Given the description of an element on the screen output the (x, y) to click on. 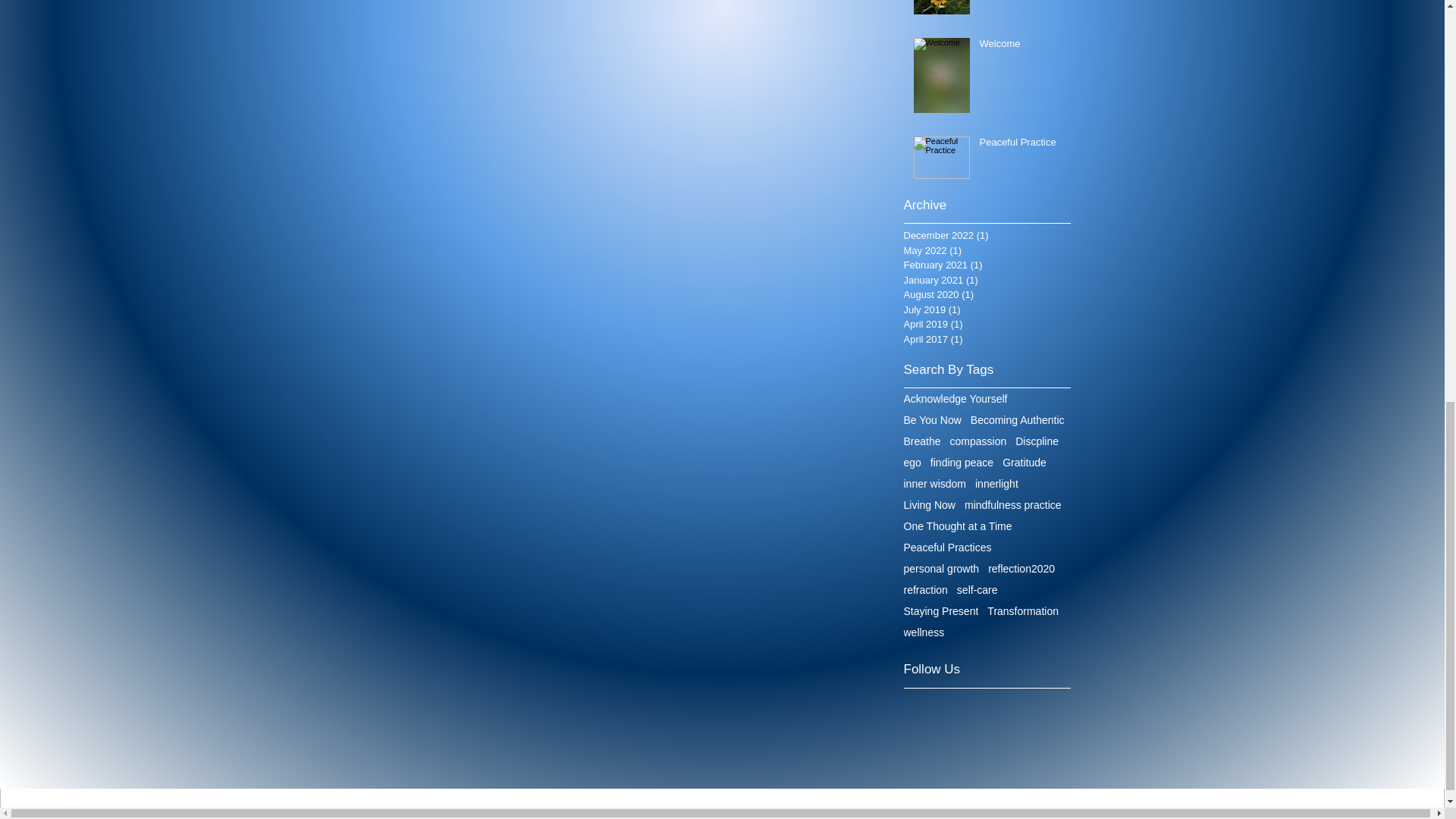
Peaceful Practice (1020, 145)
Show up today, just as you are (1020, 1)
Welcome (1020, 46)
Acknowledge Yourself (955, 398)
